Given the description of an element on the screen output the (x, y) to click on. 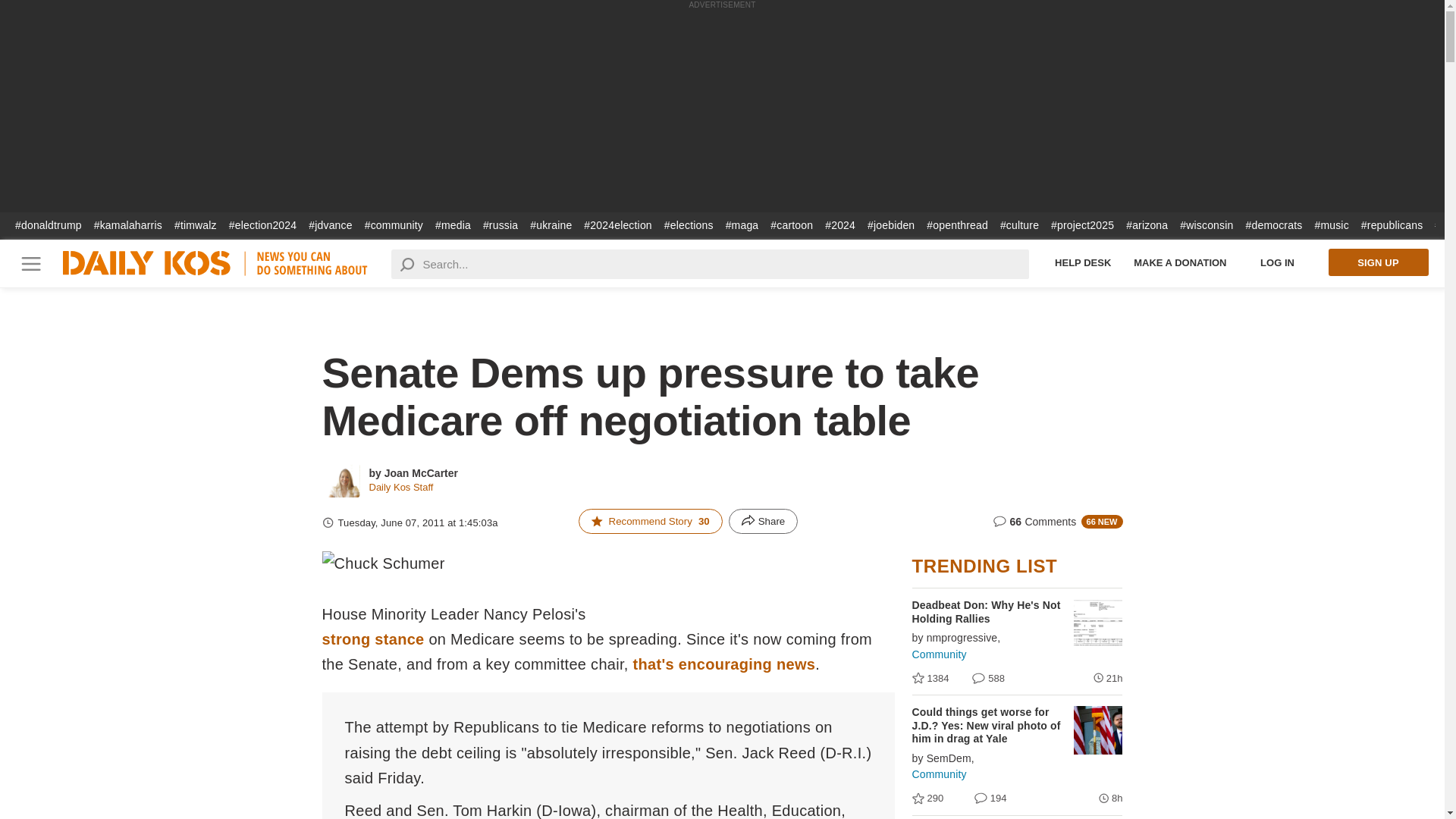
Help Desk (1082, 262)
Make a Donation (1179, 262)
MAKE A DONATION (1179, 262)
